Given the description of an element on the screen output the (x, y) to click on. 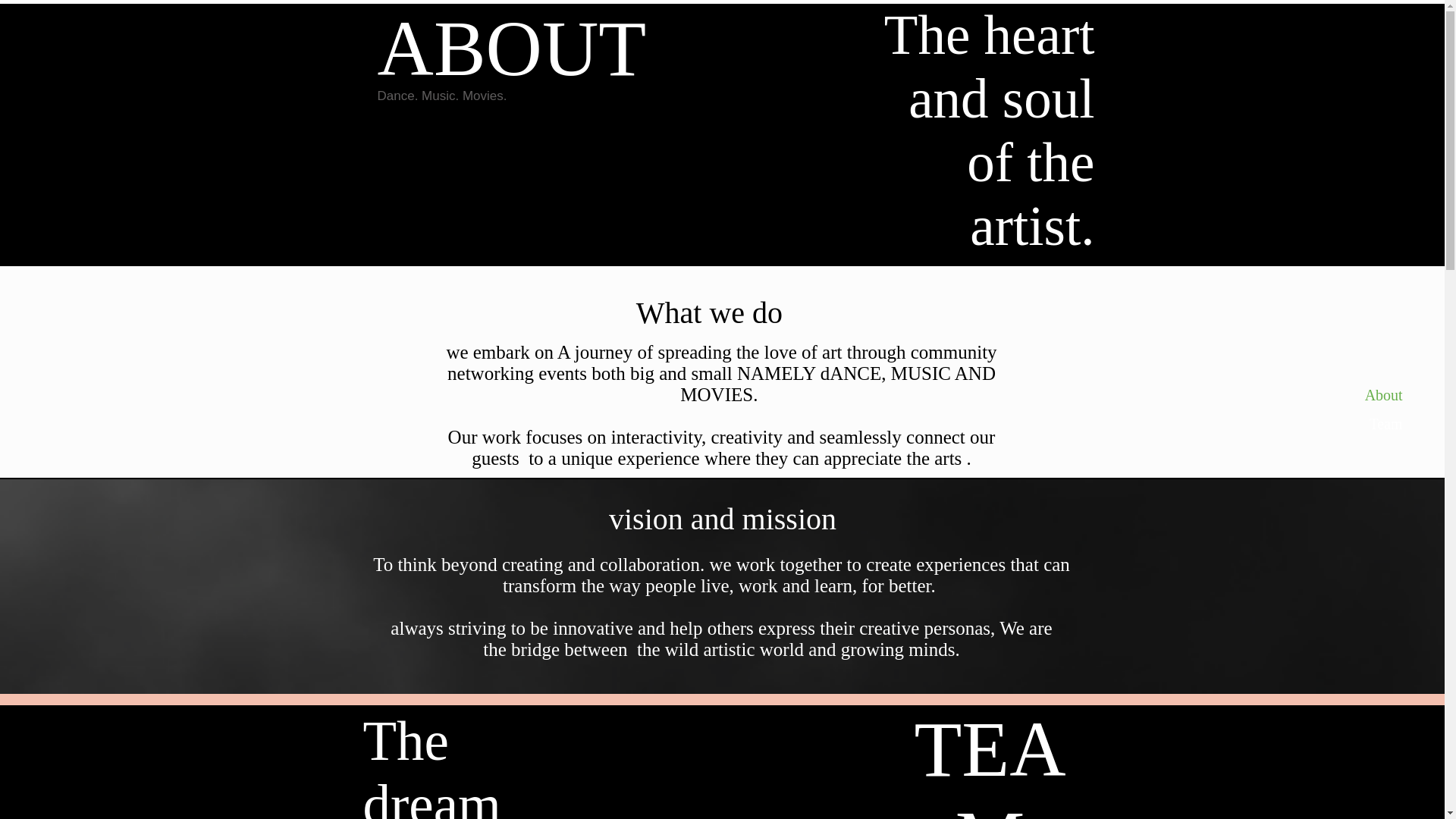
Team (1371, 423)
About (1371, 394)
